Given the description of an element on the screen output the (x, y) to click on. 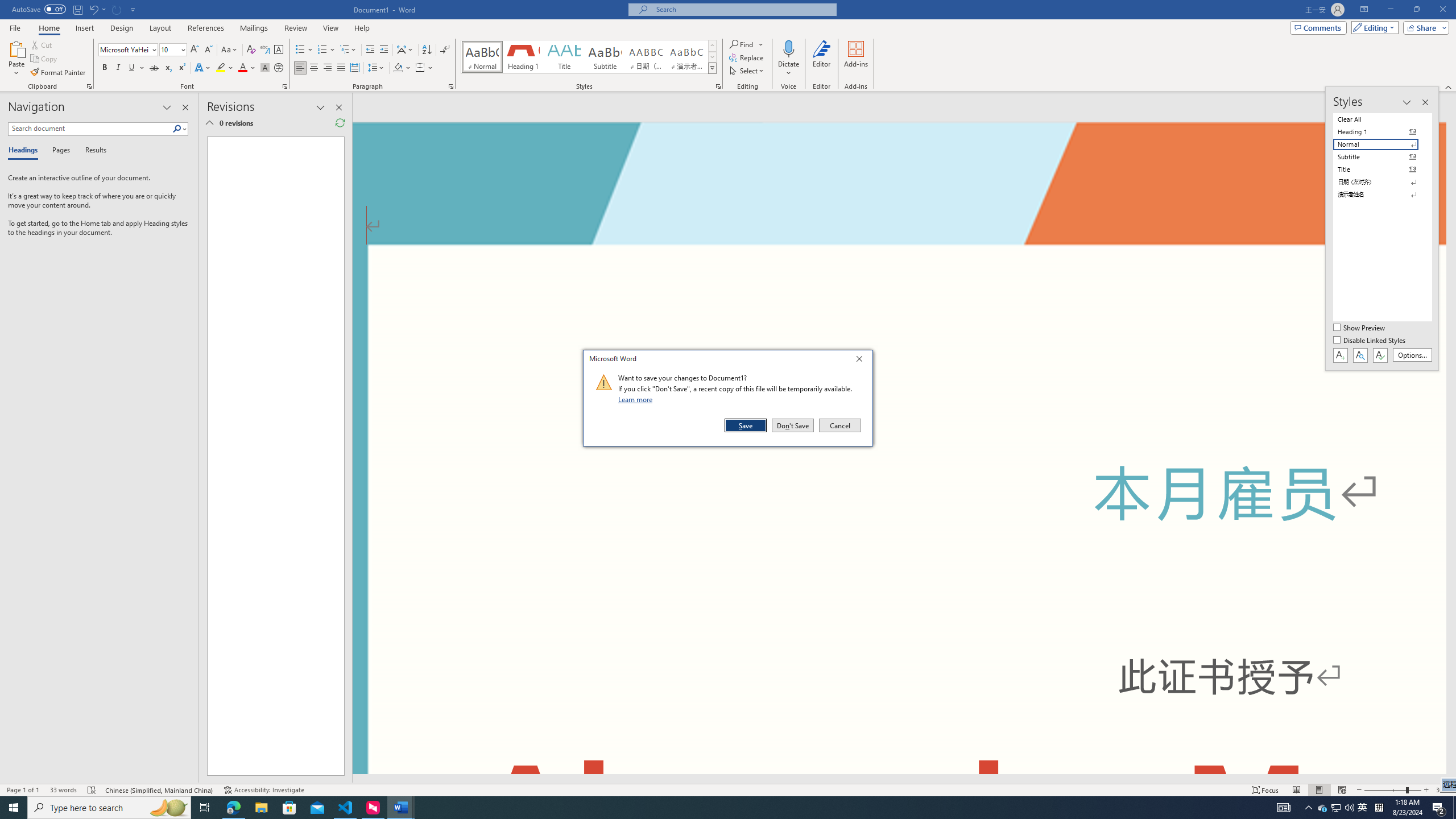
Layout (160, 28)
Styles... (717, 85)
Font Color Red (241, 67)
Show Preview (1360, 328)
Superscript (180, 67)
Action Center, 2 new notifications (1439, 807)
Replace... (747, 56)
Options... (1412, 354)
Change Case (229, 49)
Underline (131, 67)
Visual Studio Code - 1 running window (345, 807)
Zoom 308% (1443, 790)
Class: NetUIImage (603, 382)
Accessibility Checker Accessibility: Investigate (263, 790)
